Given the description of an element on the screen output the (x, y) to click on. 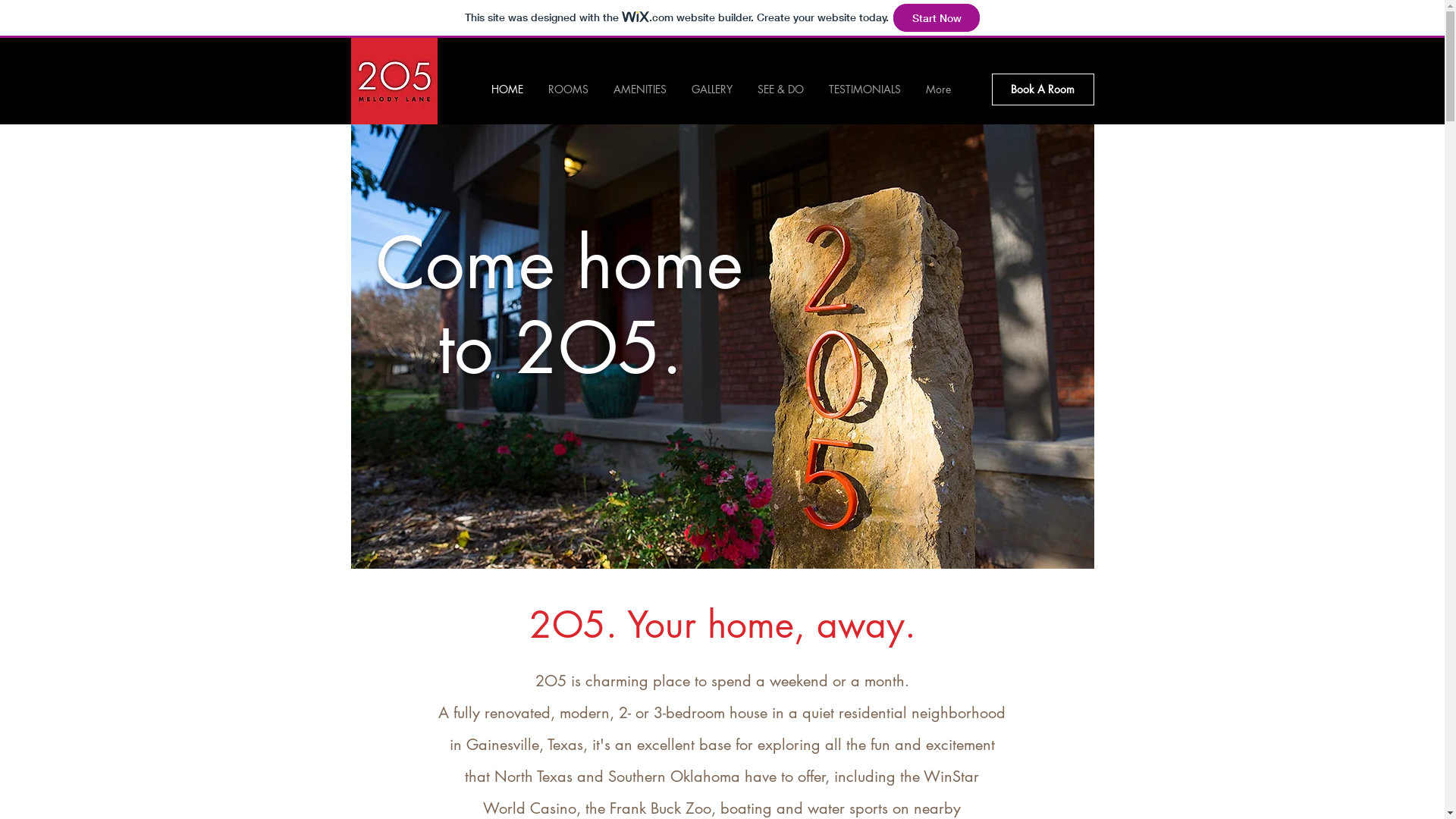
SEE & DO Element type: text (779, 89)
GALLERY Element type: text (712, 89)
HOME Element type: text (507, 89)
AMENITIES Element type: text (639, 89)
ROOMS Element type: text (567, 89)
Book A Room Element type: text (1042, 89)
TESTIMONIALS Element type: text (864, 89)
